Given the description of an element on the screen output the (x, y) to click on. 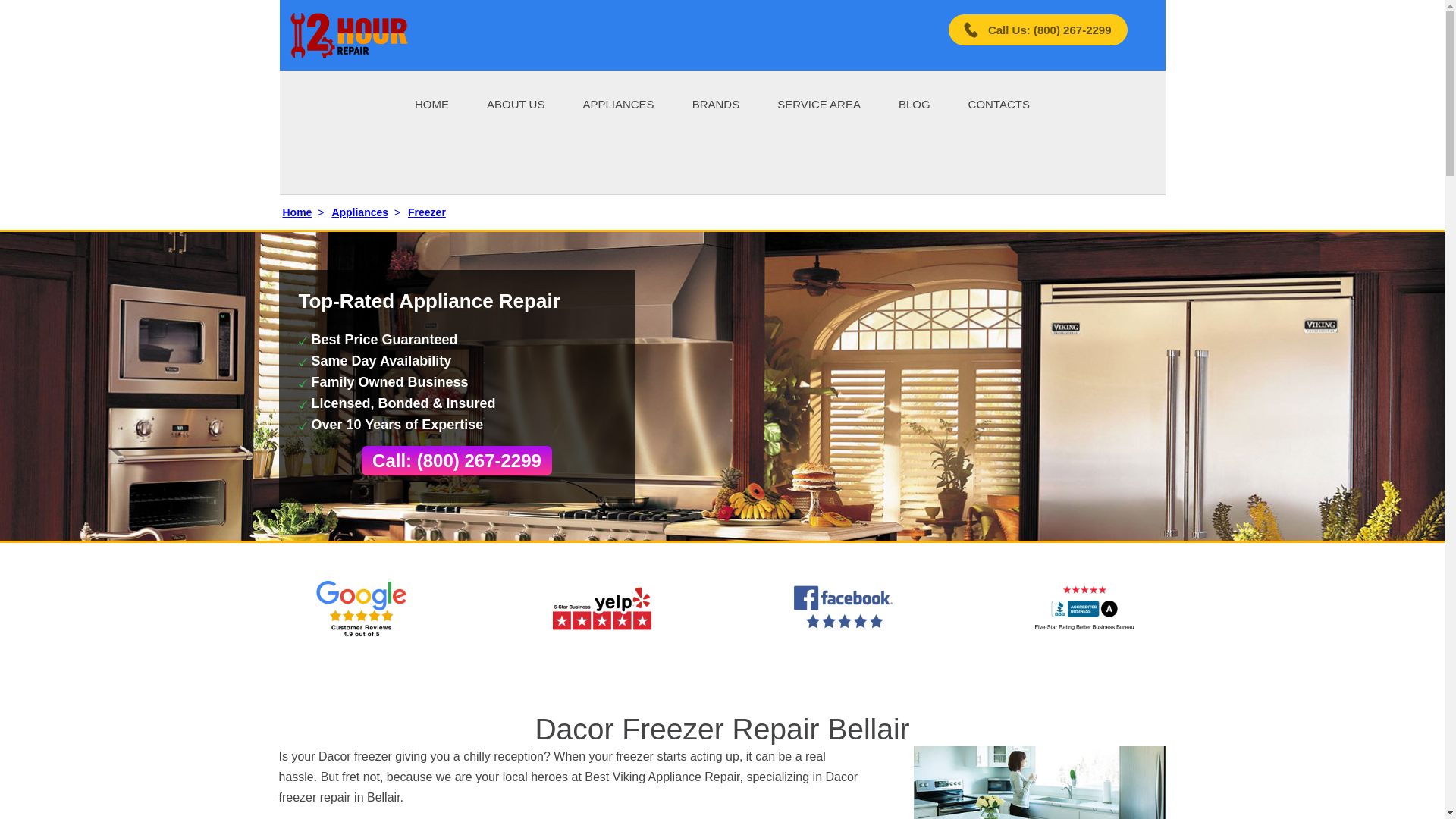
HOME (431, 103)
ABOUT US (515, 103)
BRANDS (715, 103)
APPLIANCES (617, 103)
